Given the description of an element on the screen output the (x, y) to click on. 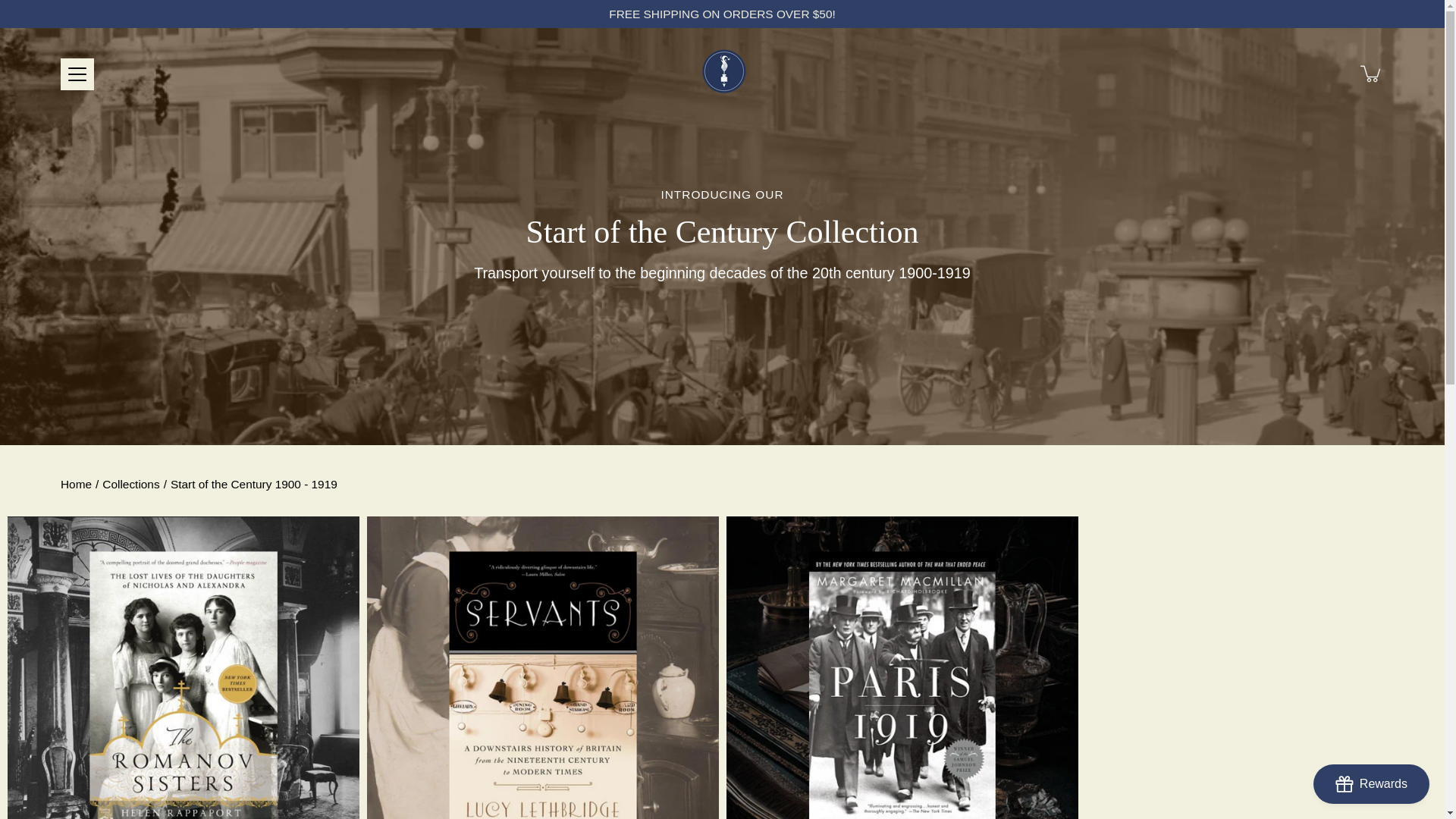
Servants (542, 667)
The Romanov Sisters (183, 667)
Back to the Homepage (76, 483)
Paris 1919: Six Months that Changed the World (902, 667)
